Given the description of an element on the screen output the (x, y) to click on. 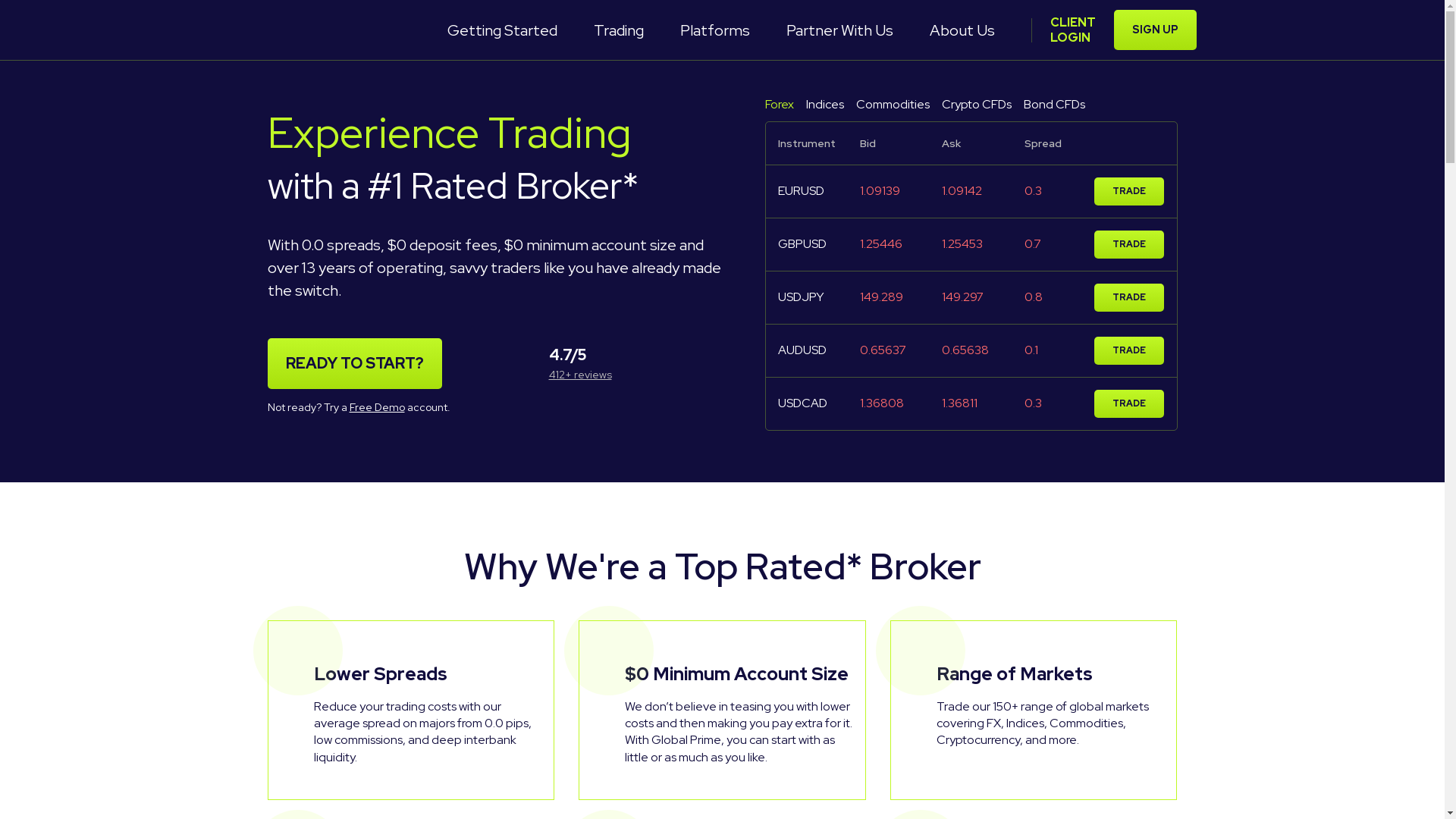
TRADE Element type: text (1129, 191)
Bond CFDs Element type: text (1054, 104)
Commodities Element type: text (891, 104)
Free Demo Element type: text (376, 407)
TRADE Element type: text (1129, 350)
Forex Element type: text (778, 104)
SIGN UP Element type: text (1154, 29)
READY TO START? Element type: text (353, 363)
TRADE Element type: text (1129, 403)
Crypto CFDs Element type: text (976, 104)
CLIENT LOGIN Element type: text (1072, 29)
412+ reviews Element type: text (580, 374)
TRADE Element type: text (1129, 244)
Indices Element type: text (824, 104)
TRADE Element type: text (1129, 297)
